Given the description of an element on the screen output the (x, y) to click on. 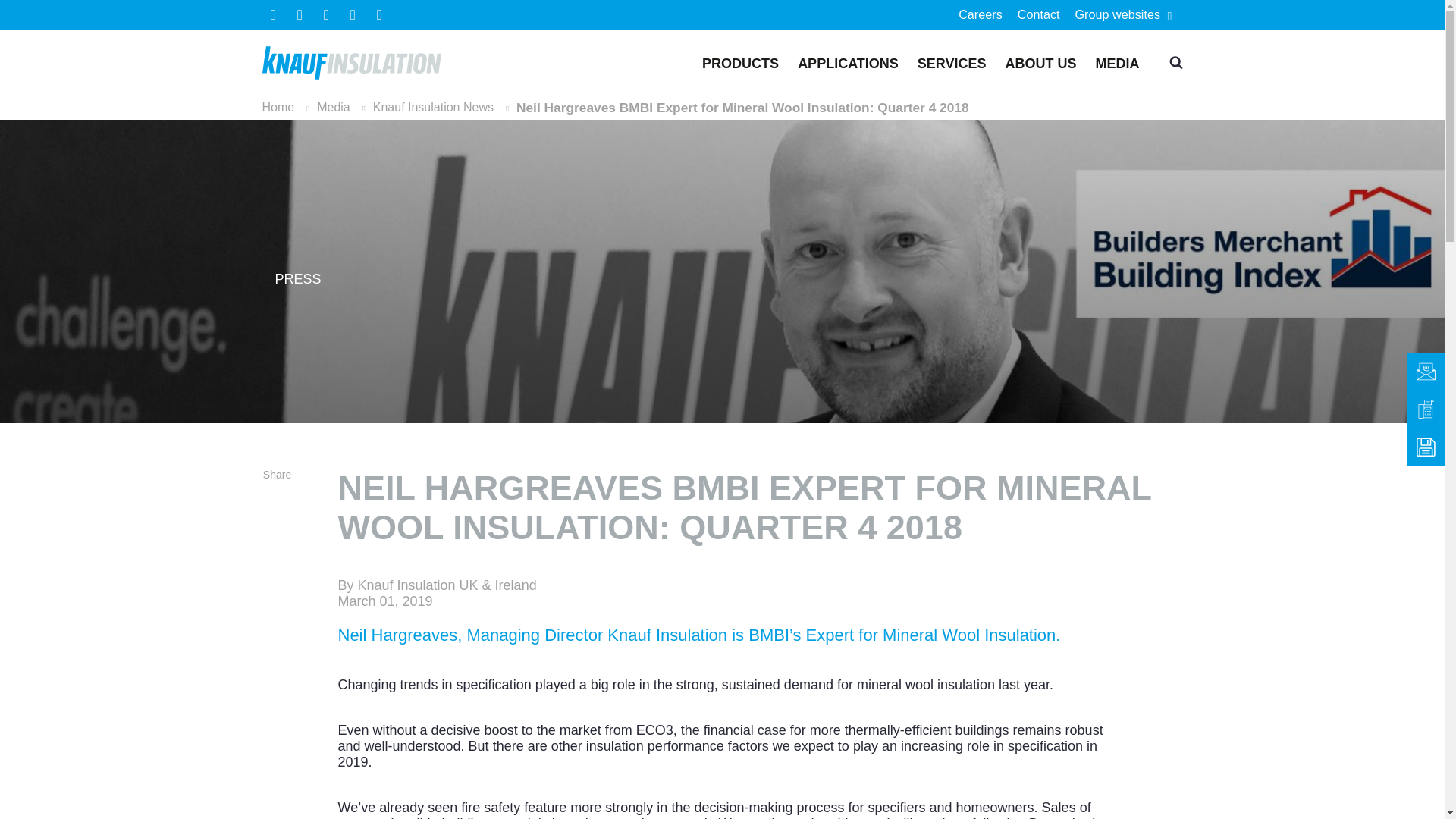
Search Click on this image to search (1175, 61)
Insulation Product Downloads (1425, 447)
Home (352, 62)
Contact (1038, 19)
Careers (980, 19)
